Given the description of an element on the screen output the (x, y) to click on. 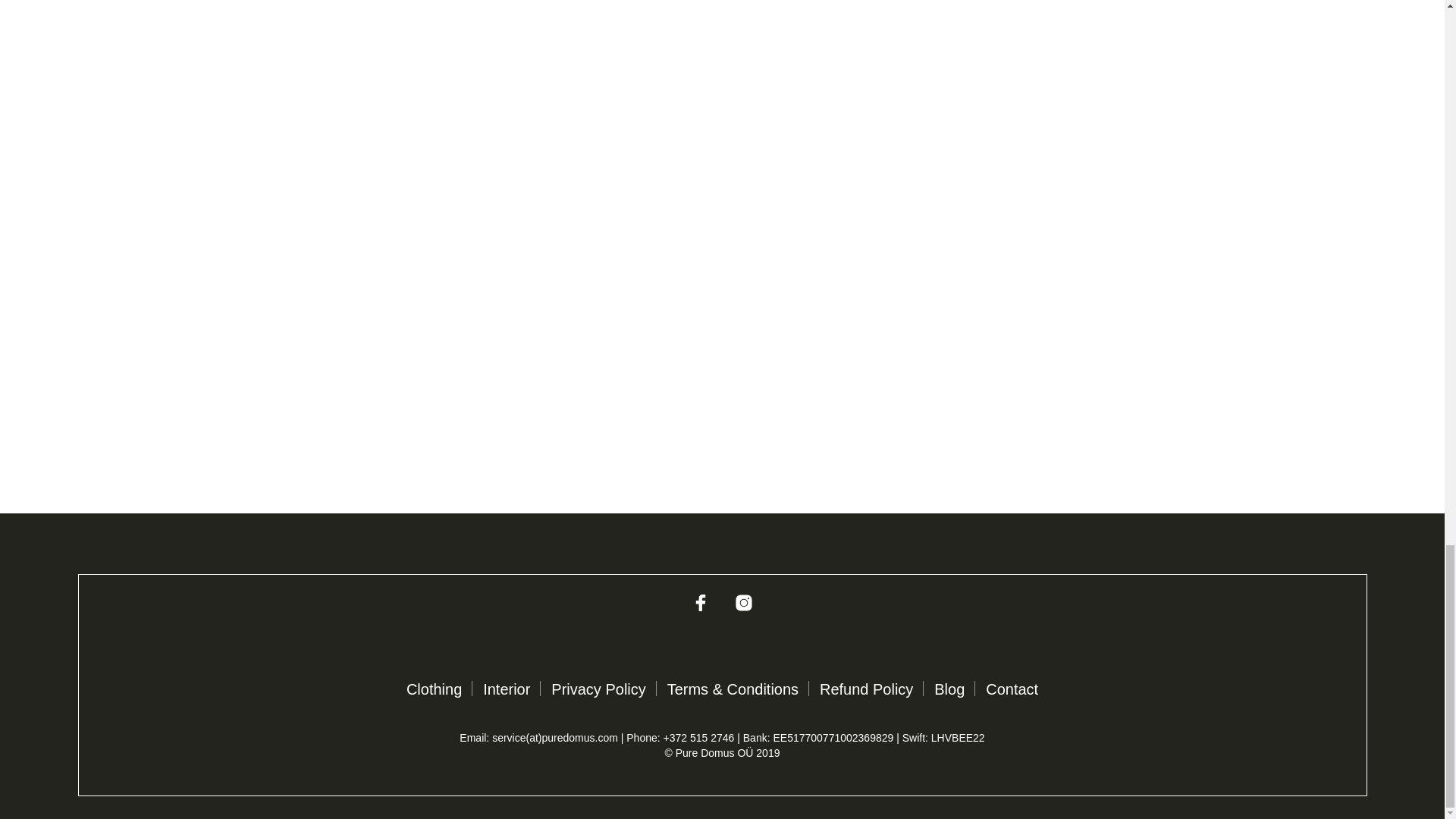
Blog (948, 688)
Clothing (433, 688)
Contact (1011, 688)
Refund Policy (865, 688)
Privacy Policy (598, 688)
Interior (506, 688)
